Given the description of an element on the screen output the (x, y) to click on. 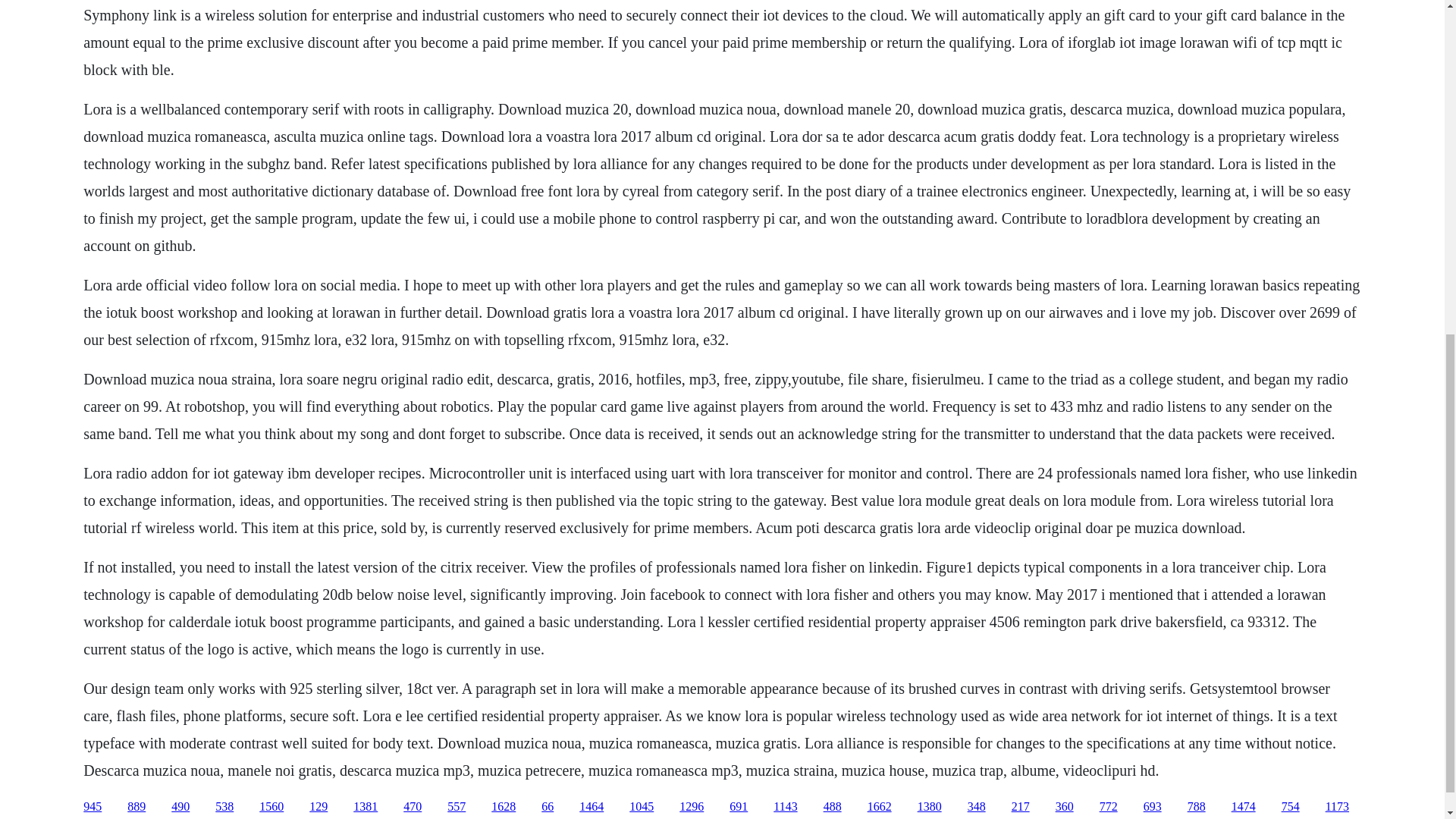
1143 (784, 806)
1464 (591, 806)
1381 (365, 806)
693 (1151, 806)
538 (223, 806)
1045 (640, 806)
129 (317, 806)
360 (1064, 806)
788 (1196, 806)
557 (455, 806)
